Given the description of an element on the screen output the (x, y) to click on. 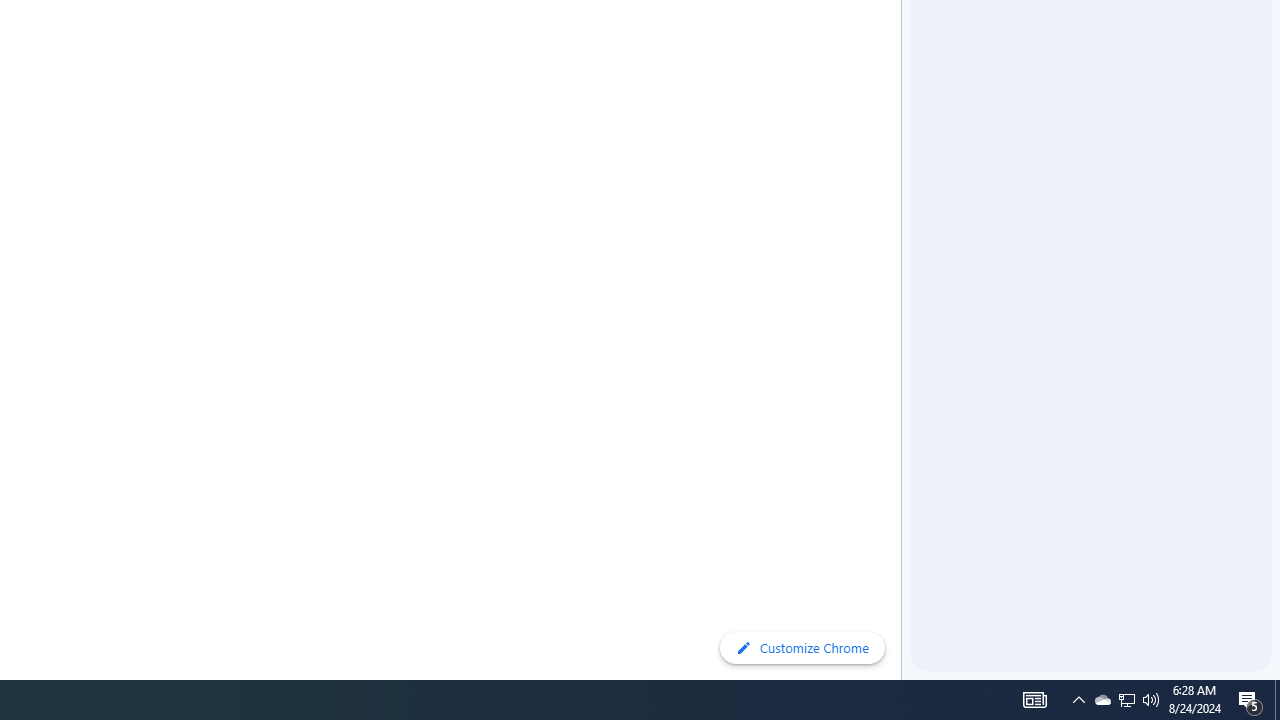
Side Panel Resize Handle (905, 39)
Customize Chrome (801, 647)
